Given the description of an element on the screen output the (x, y) to click on. 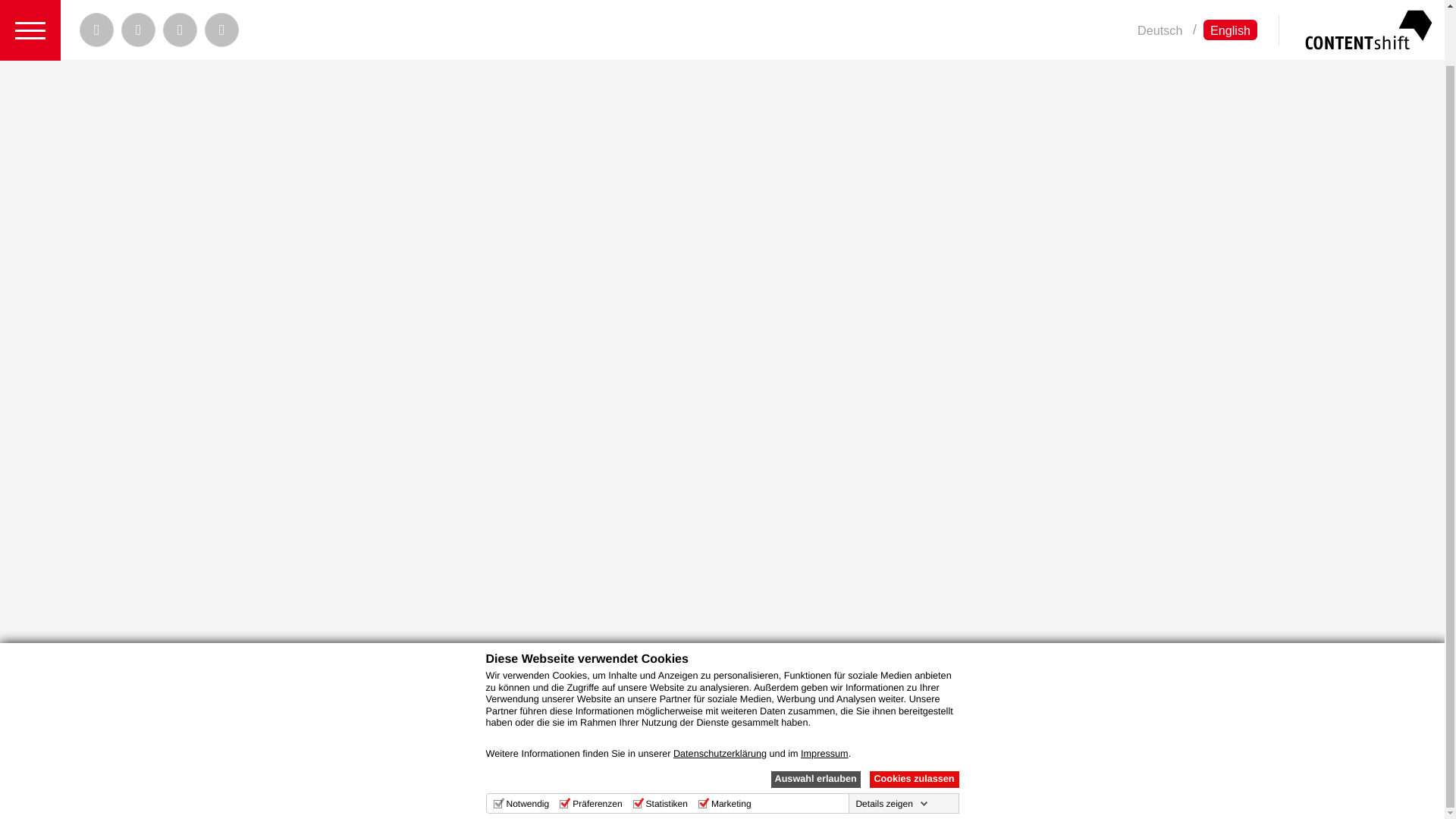
Details zeigen (890, 743)
Cookies zulassen (913, 718)
Auswahl erlauben (815, 718)
Impressum (824, 692)
